Given the description of an element on the screen output the (x, y) to click on. 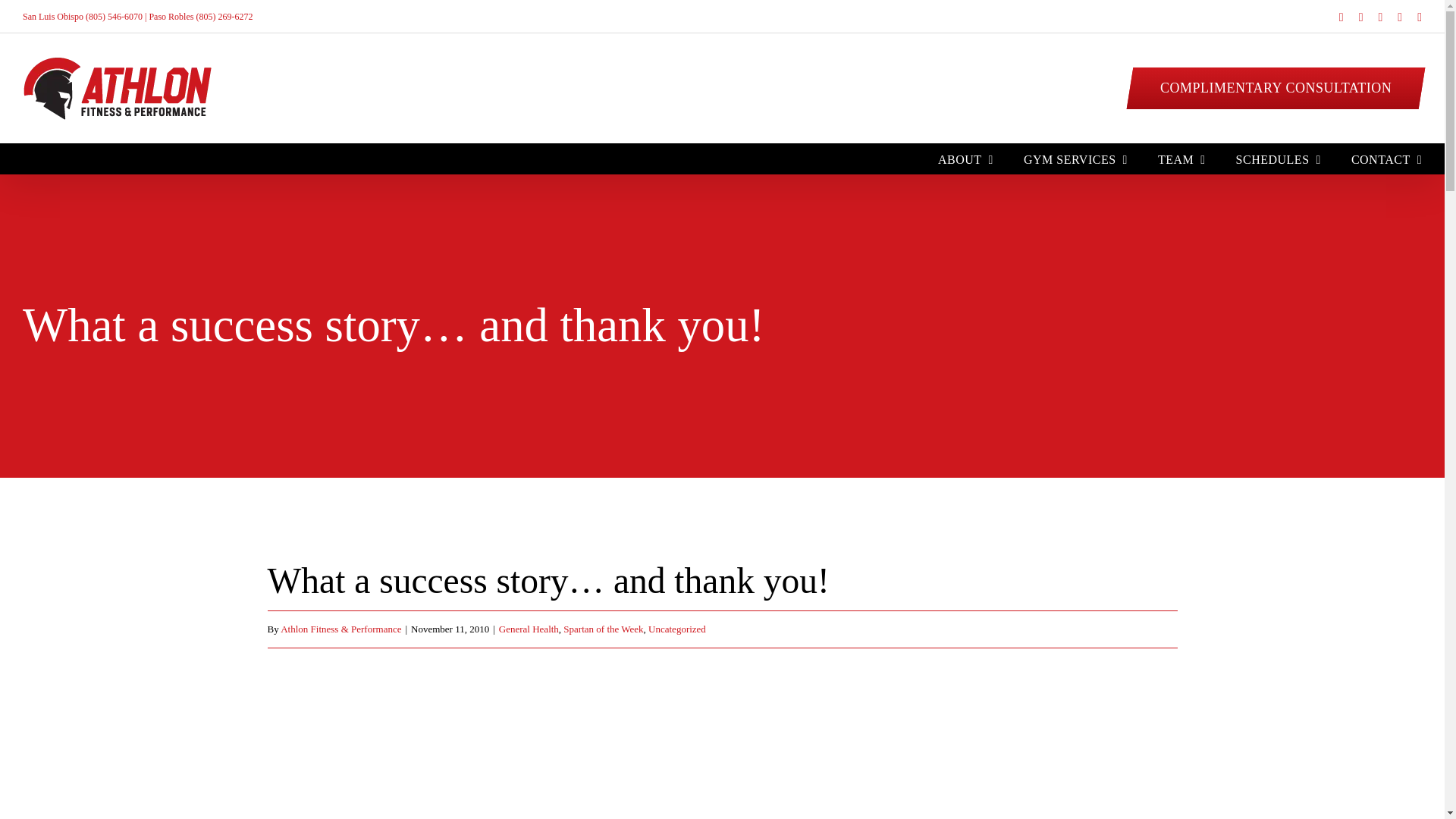
CONTACT (1386, 158)
GYM SERVICES (1074, 158)
ABOUT (964, 158)
SCHEDULES (1278, 158)
TEAM (1181, 158)
COMPLIMENTARY CONSULTATION (1271, 87)
